Given the description of an element on the screen output the (x, y) to click on. 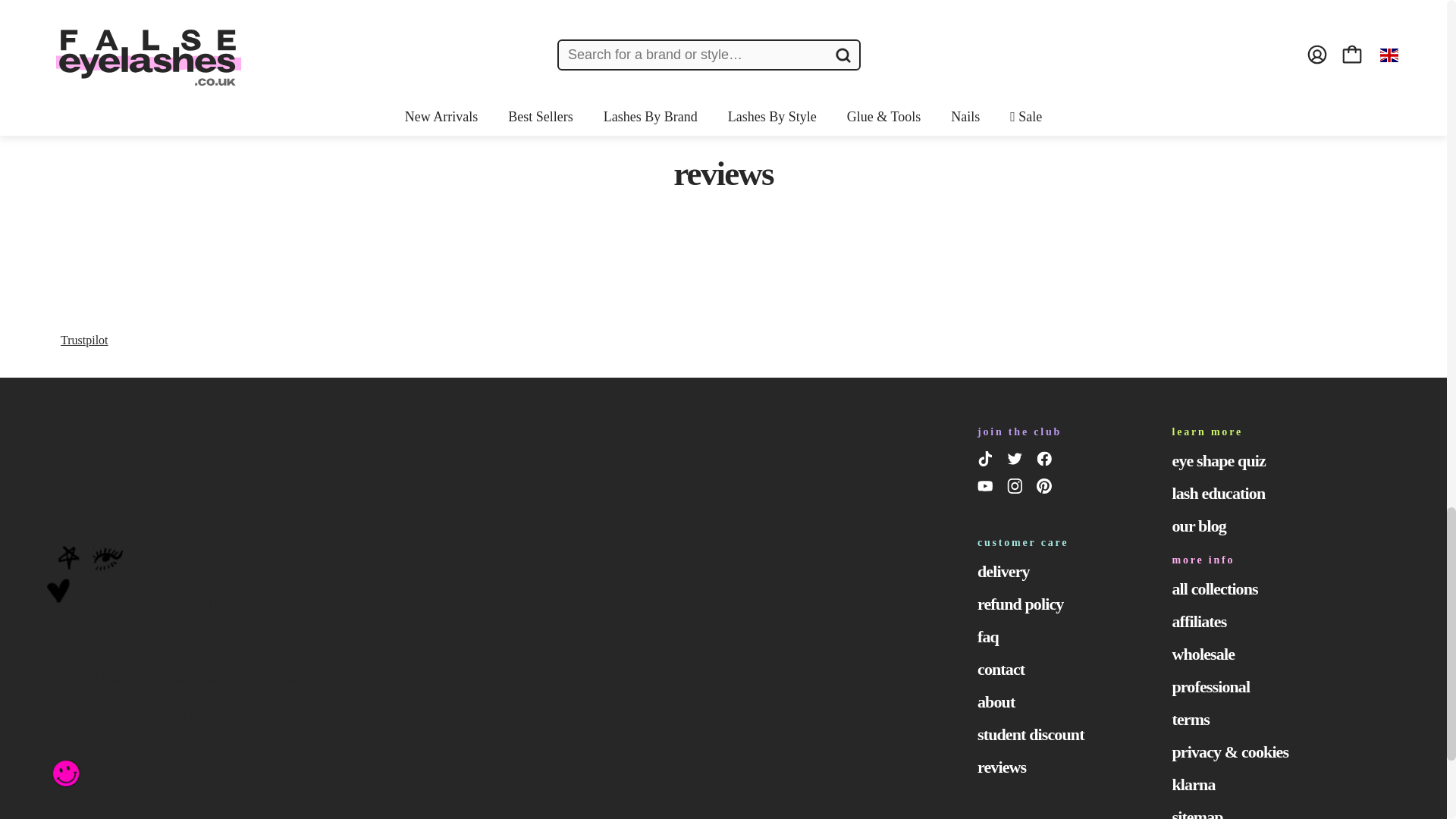
FalseEyelashes.co.uk on TikTok (986, 461)
FalseEyelashes.co.uk on Facebook (1046, 461)
FalseEyelashes.co.uk on YouTube (986, 488)
FalseEyelashes.co.uk on Instagram (1017, 488)
FalseEyelashes.co.uk on Twitter (1017, 461)
